Given the description of an element on the screen output the (x, y) to click on. 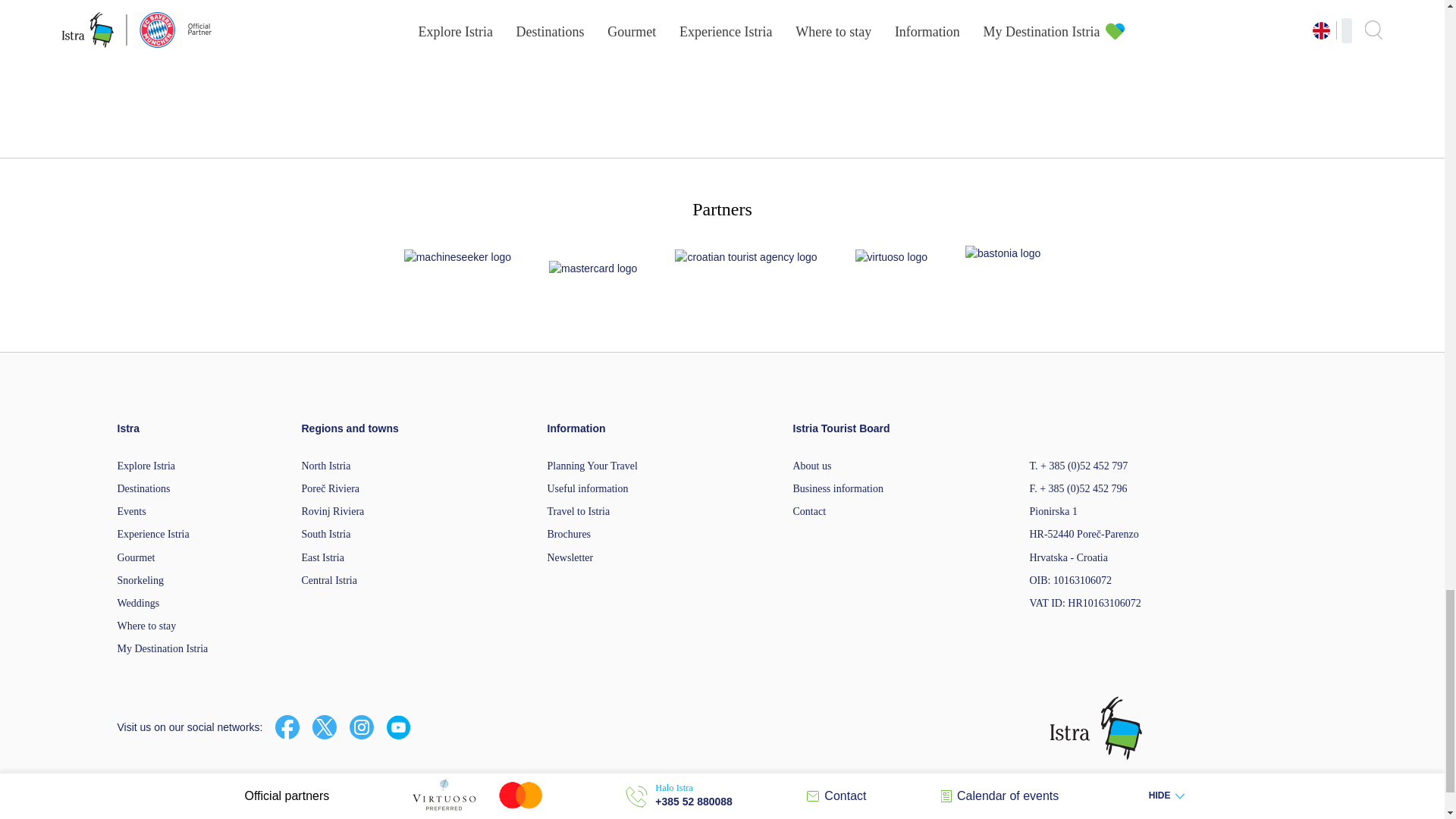
Where to stay (146, 625)
Snorkeling (139, 580)
My Destination Istria (162, 648)
Explore Istria (145, 465)
Weddings (137, 603)
East Istria (322, 557)
North Istria (325, 465)
Experience Istria (152, 533)
Destinations (143, 488)
Rovinj Riviera (333, 511)
